Given the description of an element on the screen output the (x, y) to click on. 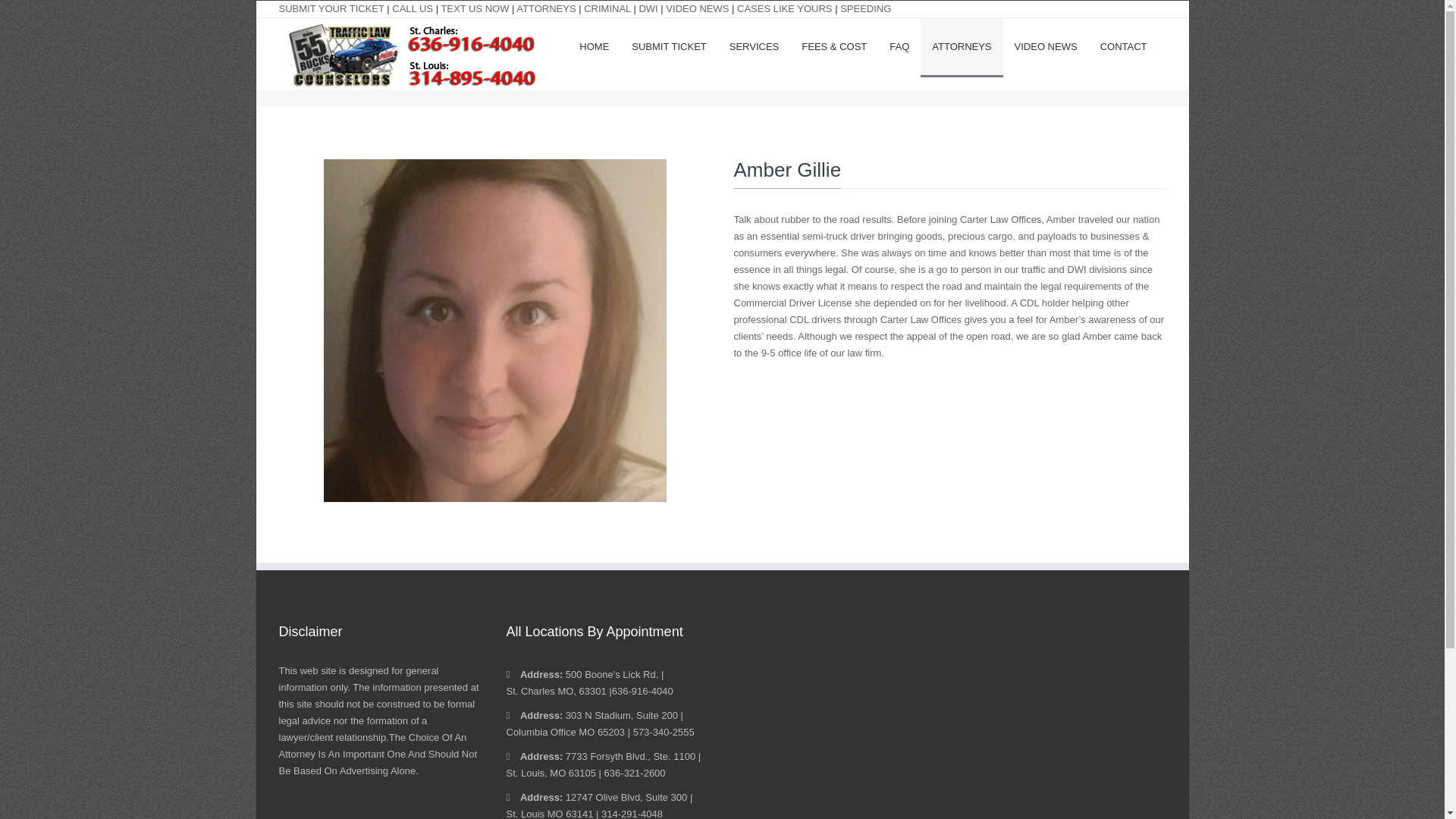
FAQ (898, 46)
CONTACT (1123, 46)
VIDEO NEWS (1046, 46)
SERVICES (753, 46)
CASES LIKE YOURS (783, 8)
SPEEDING (865, 8)
SUBMIT YOUR TICKET (331, 8)
TEXT US NOW (474, 8)
ATTORNEYS (961, 47)
SUBMIT TICKET (668, 46)
HOME (593, 46)
CRIMINAL (606, 8)
CALL US (411, 8)
VIDEO NEWS (697, 8)
DWI (648, 8)
